Given the description of an element on the screen output the (x, y) to click on. 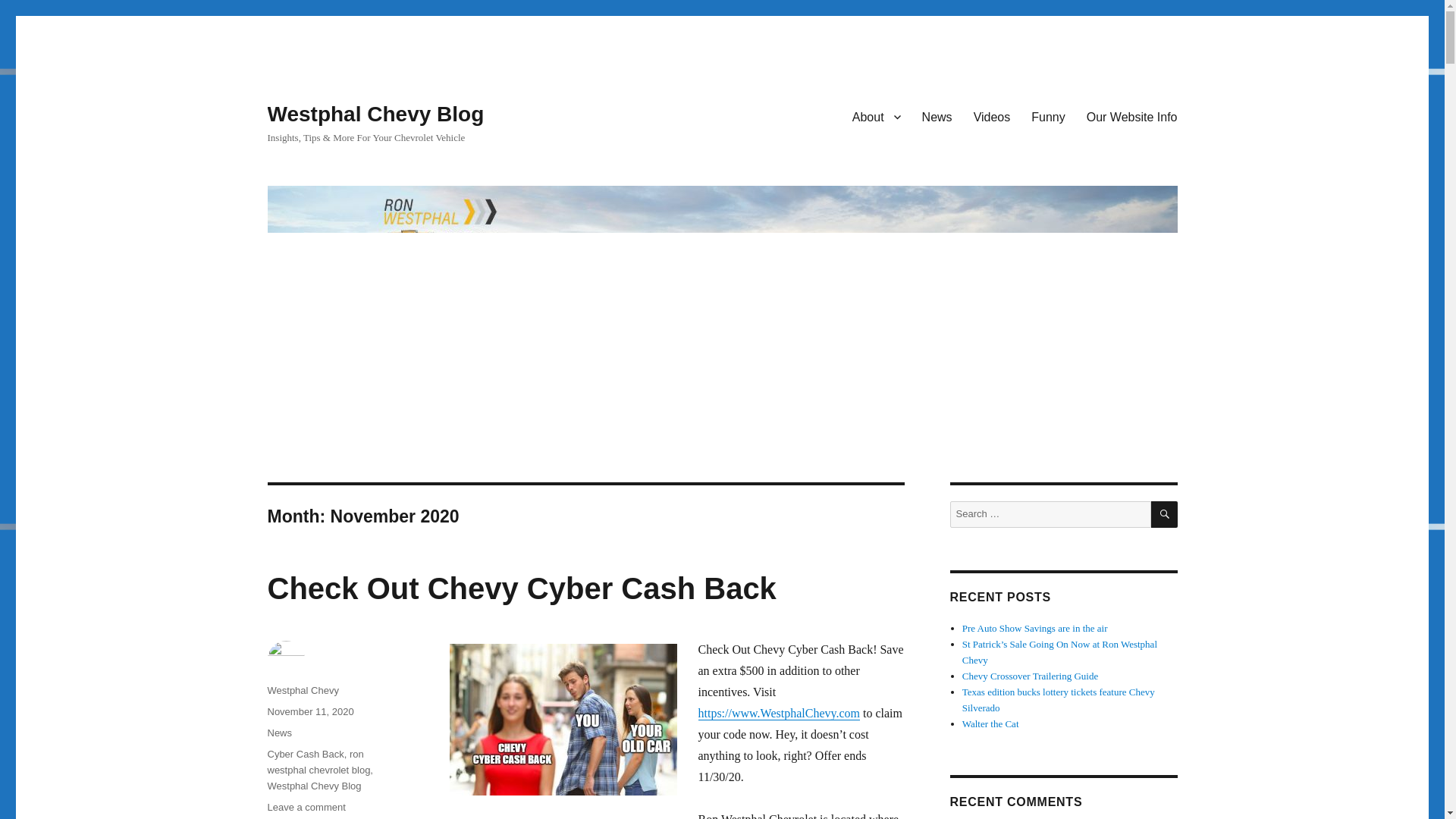
Check Out Chevy Cyber Cash Back (521, 588)
About (876, 116)
Distracted-boyfriend-Ron-Westphal-Chevrolet (305, 807)
News (562, 719)
Funny (279, 732)
News (1047, 116)
Westphal Chevy Blog (936, 116)
Our Website Info (313, 785)
November 11, 2020 (1131, 116)
